Given the description of an element on the screen output the (x, y) to click on. 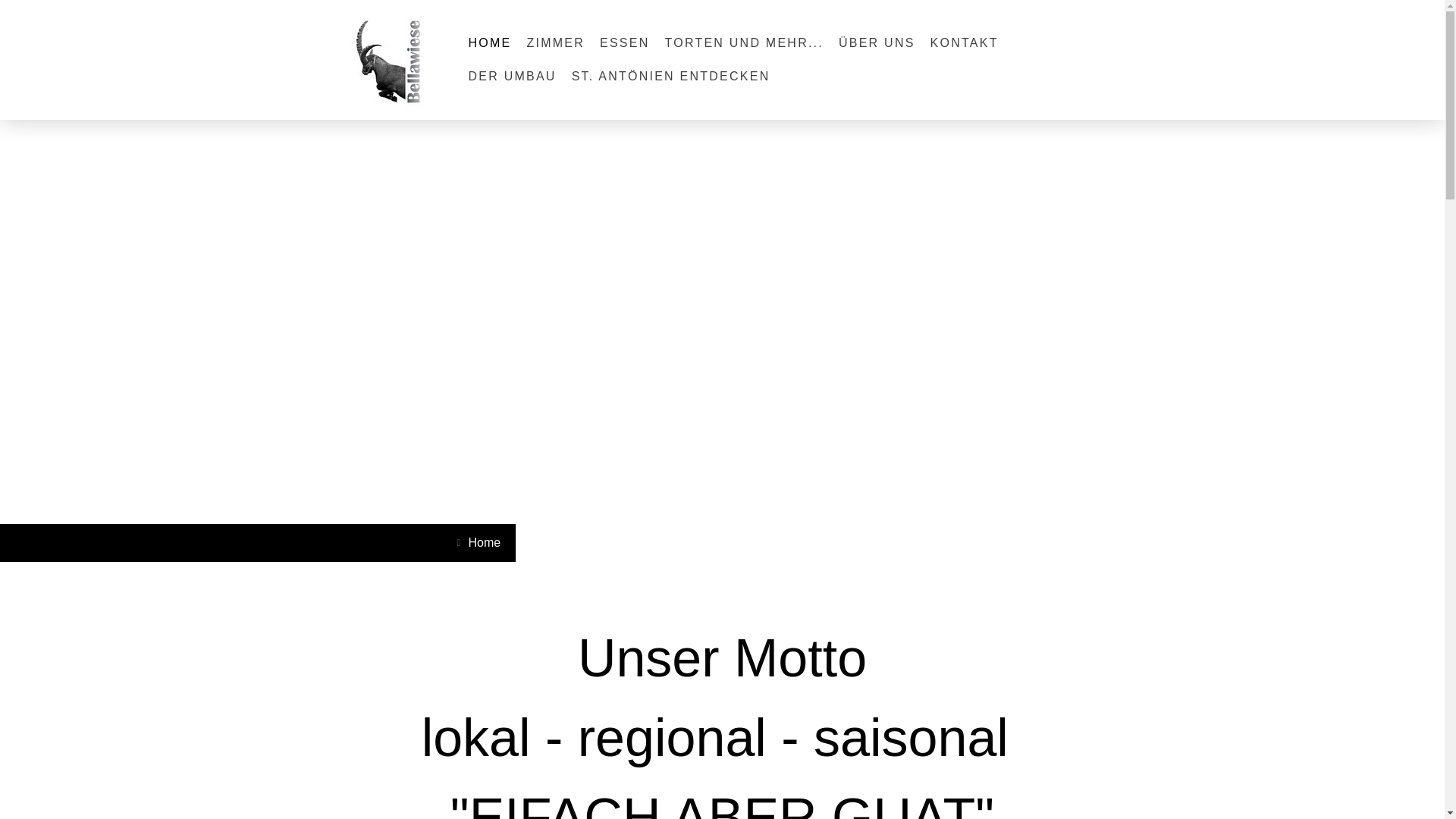
TORTEN UND MEHR... Element type: text (743, 42)
ZIMMER Element type: text (555, 42)
ESSEN Element type: text (624, 42)
DER UMBAU Element type: text (512, 76)
KONTAKT Element type: text (964, 42)
Home Element type: text (480, 542)
HOME Element type: text (490, 42)
